Given the description of an element on the screen output the (x, y) to click on. 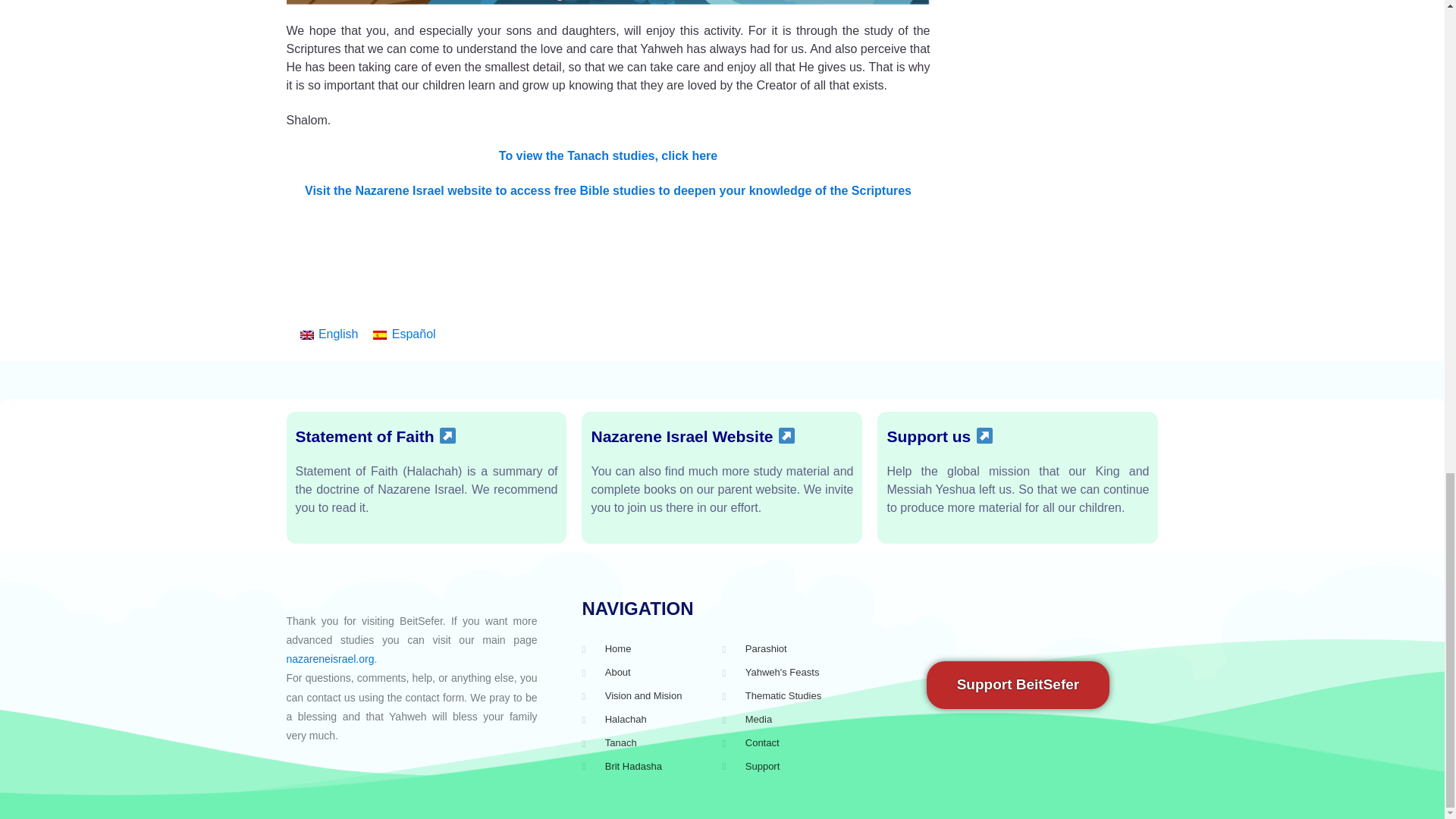
Scroll back to top (1406, 412)
